Given the description of an element on the screen output the (x, y) to click on. 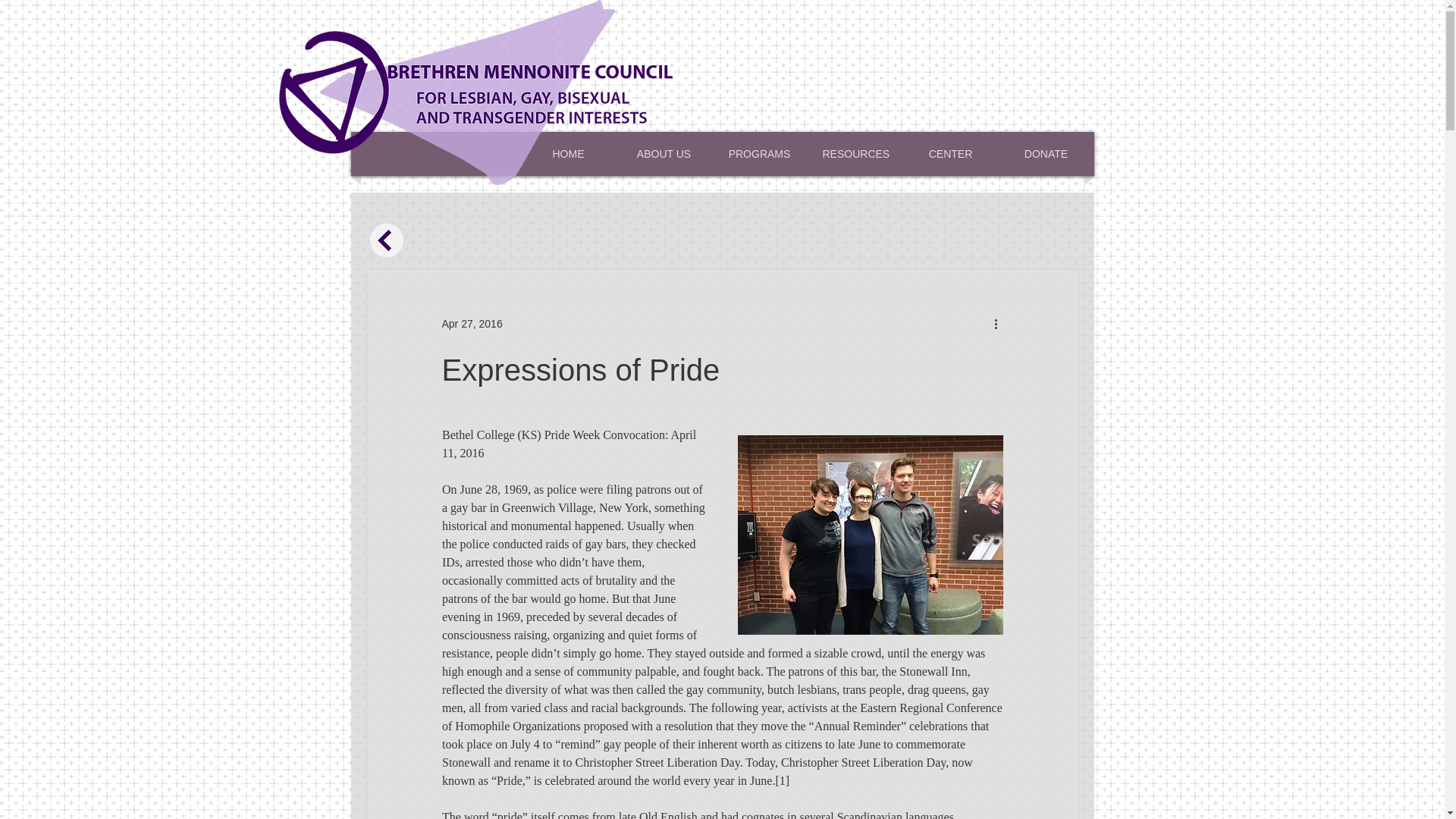
DONATE (1046, 153)
PROGRAMS (759, 153)
Apr 27, 2016 (471, 322)
CENTER (950, 153)
New logo.png (475, 92)
HOME (568, 153)
RESOURCES (854, 153)
ABOUT US (663, 153)
